Given the description of an element on the screen output the (x, y) to click on. 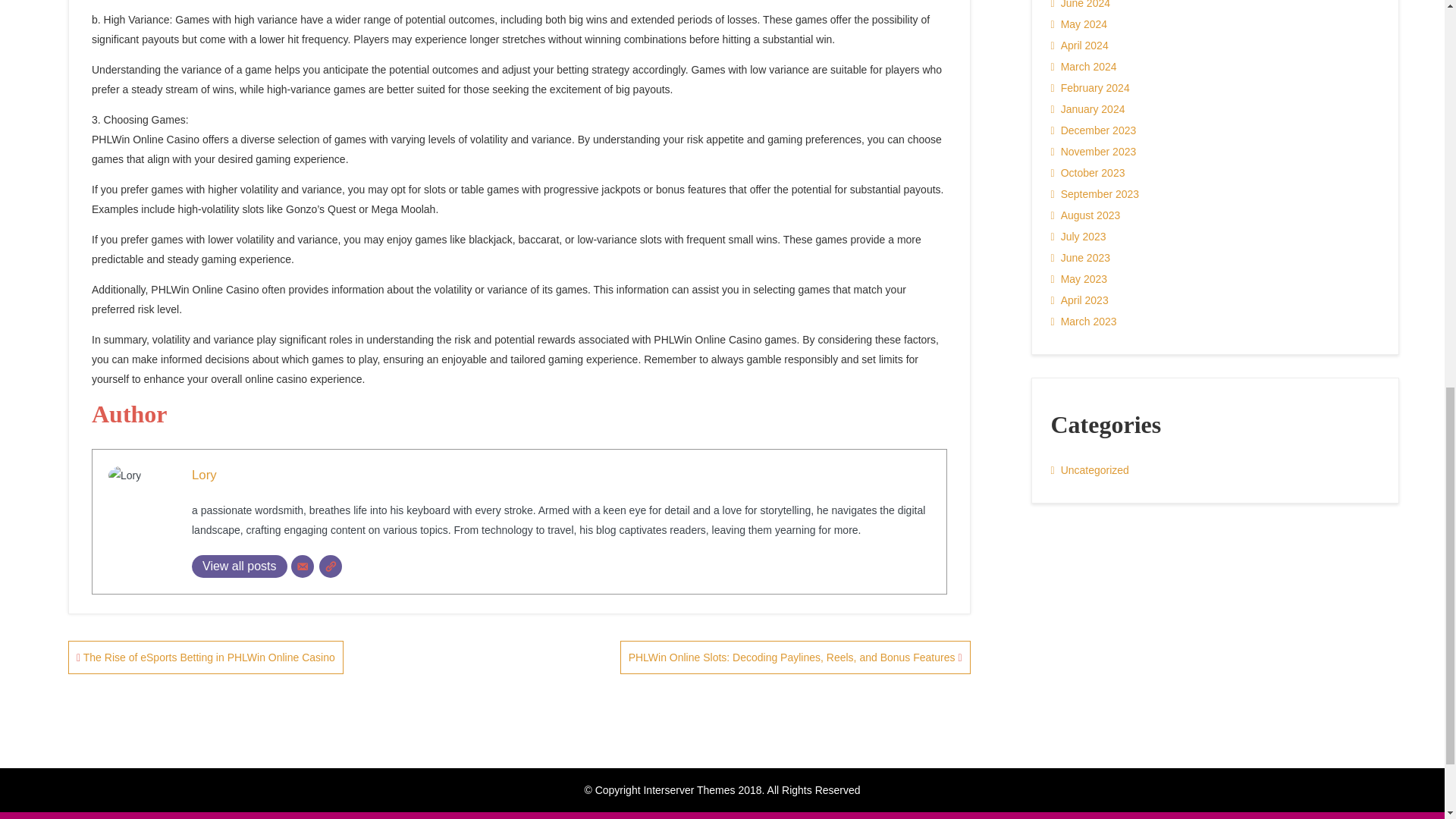
January 2024 (1088, 108)
View all posts (239, 566)
October 2023 (1088, 172)
View all posts (239, 566)
February 2024 (1090, 87)
The Rise of eSports Betting in PHLWin Online Casino (205, 657)
March 2024 (1083, 66)
June 2024 (1080, 6)
May 2023 (1079, 278)
Lory (204, 475)
December 2023 (1094, 129)
March 2023 (1083, 321)
September 2023 (1095, 193)
April 2024 (1079, 45)
